Given the description of an element on the screen output the (x, y) to click on. 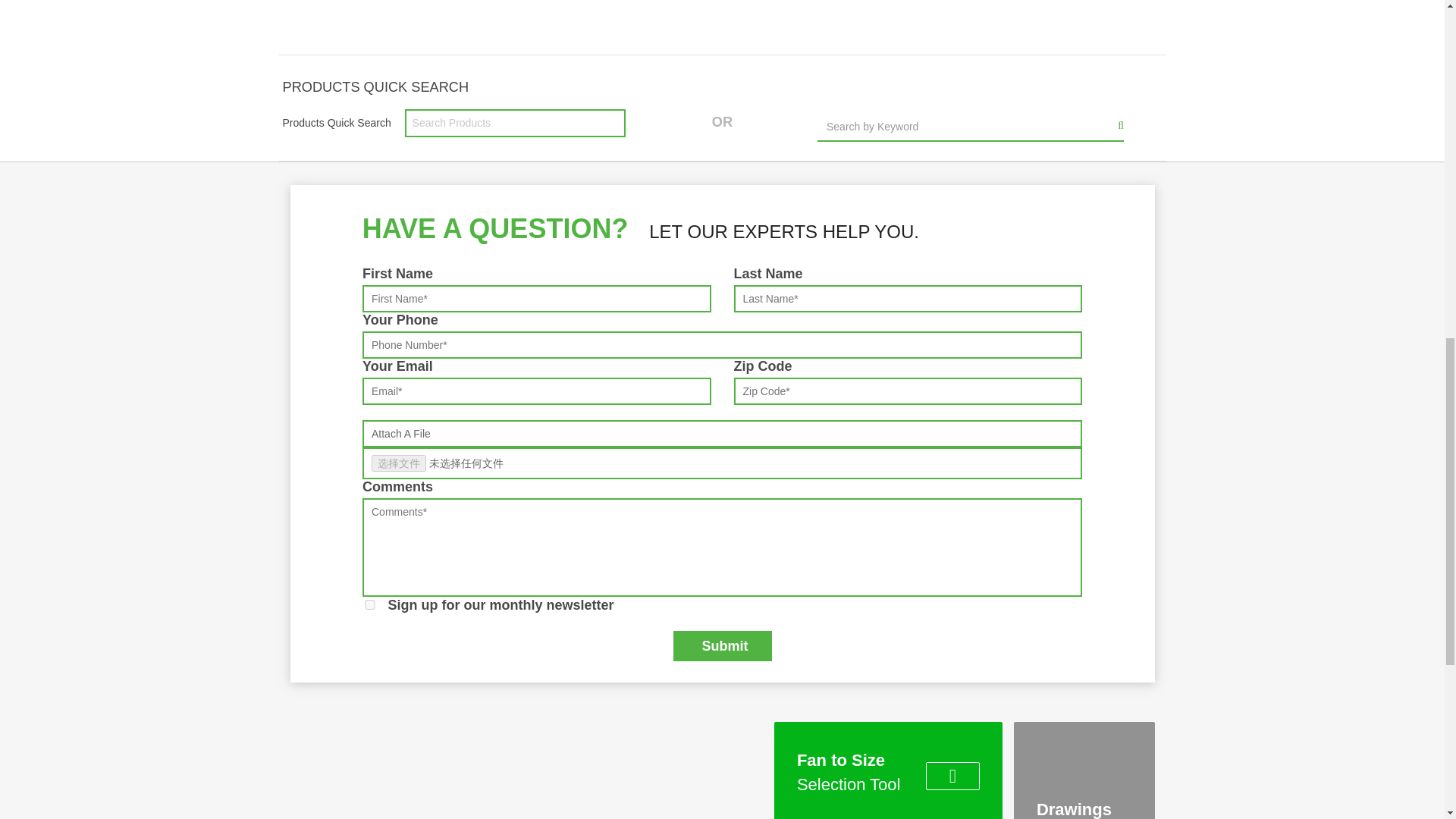
Attach A File (721, 433)
submit (721, 645)
signUp (369, 604)
